Given the description of an element on the screen output the (x, y) to click on. 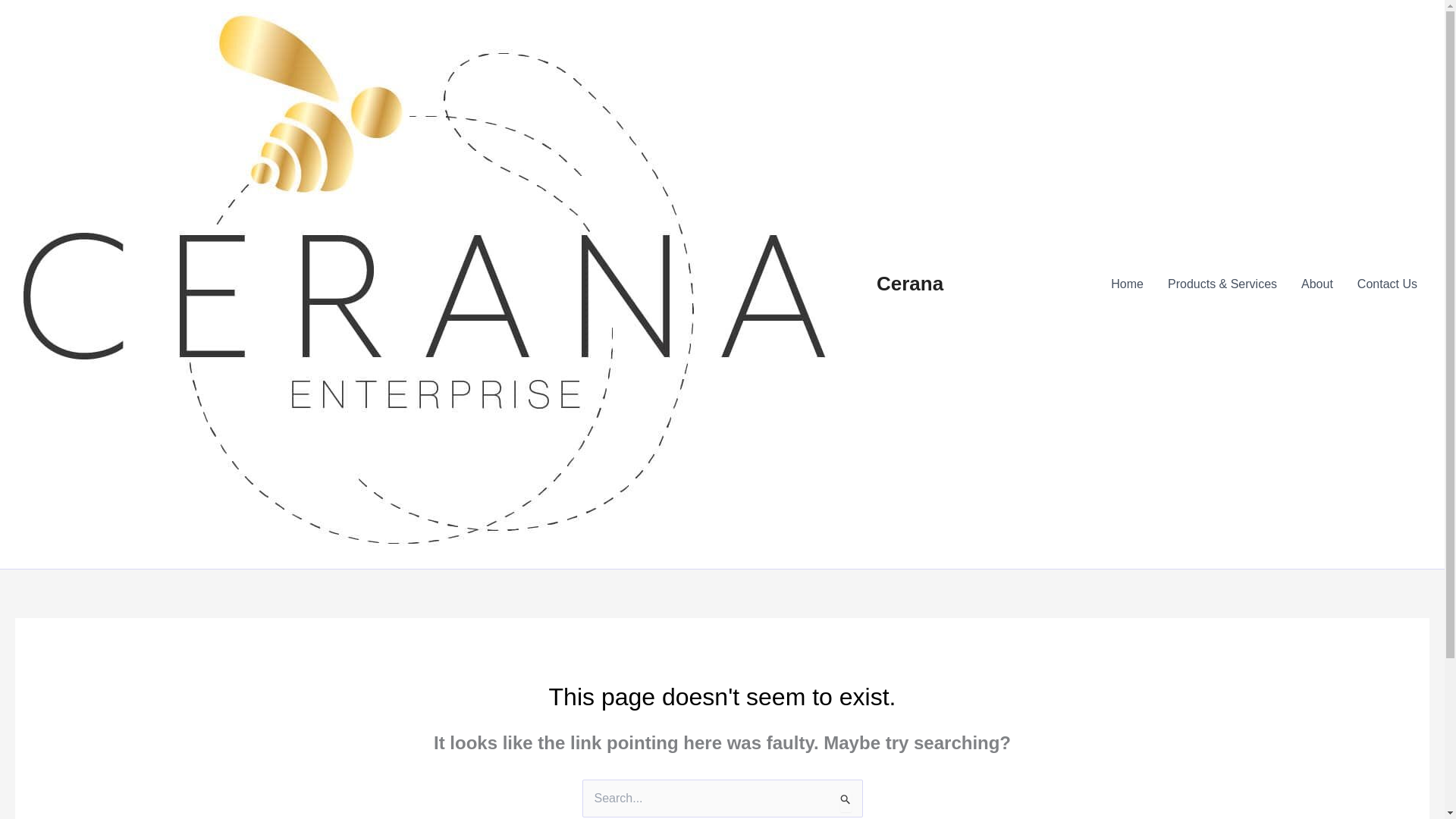
Home (1127, 283)
About (1316, 283)
Contact Us (1387, 283)
Cerana (909, 282)
